Given the description of an element on the screen output the (x, y) to click on. 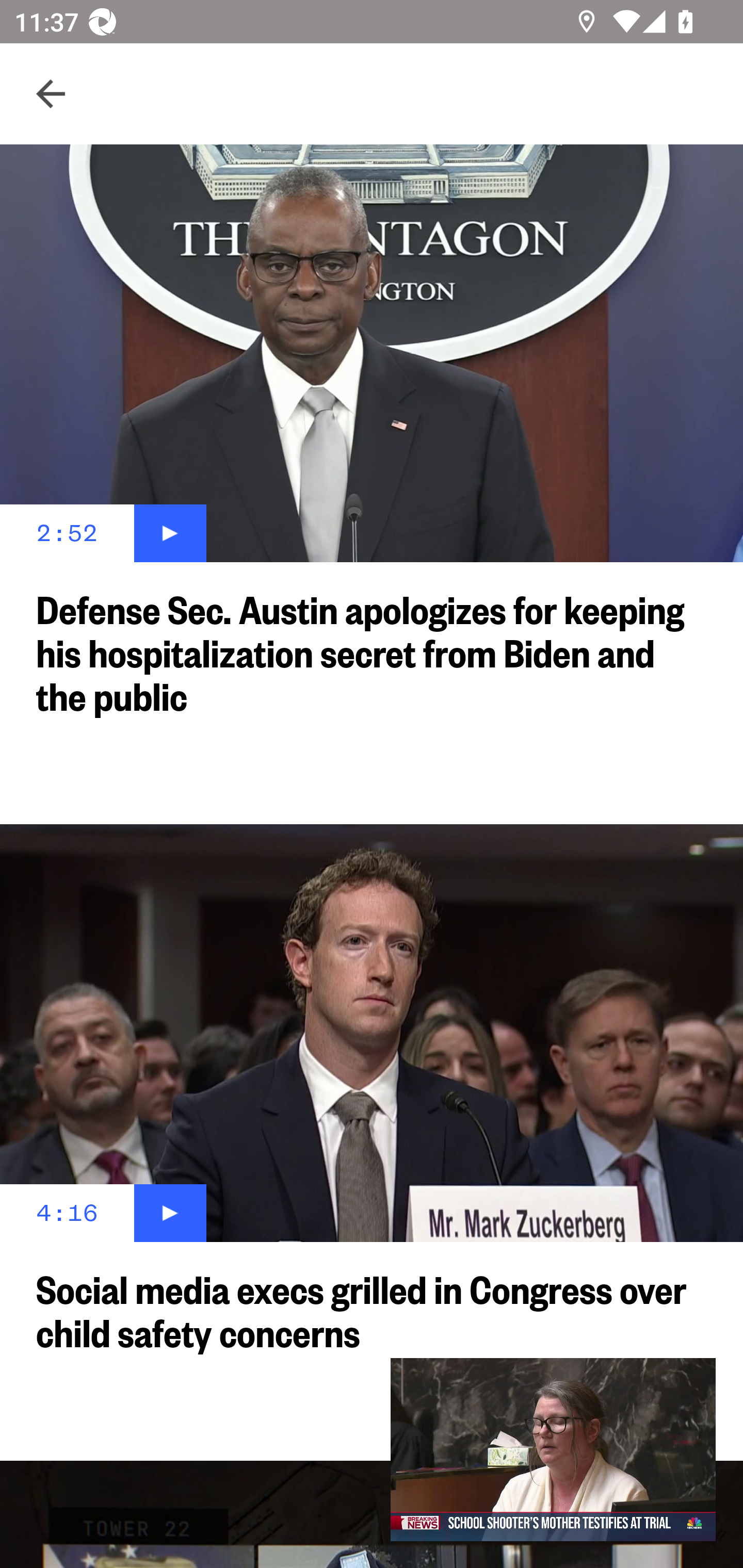
Navigate up (50, 93)
